Given the description of an element on the screen output the (x, y) to click on. 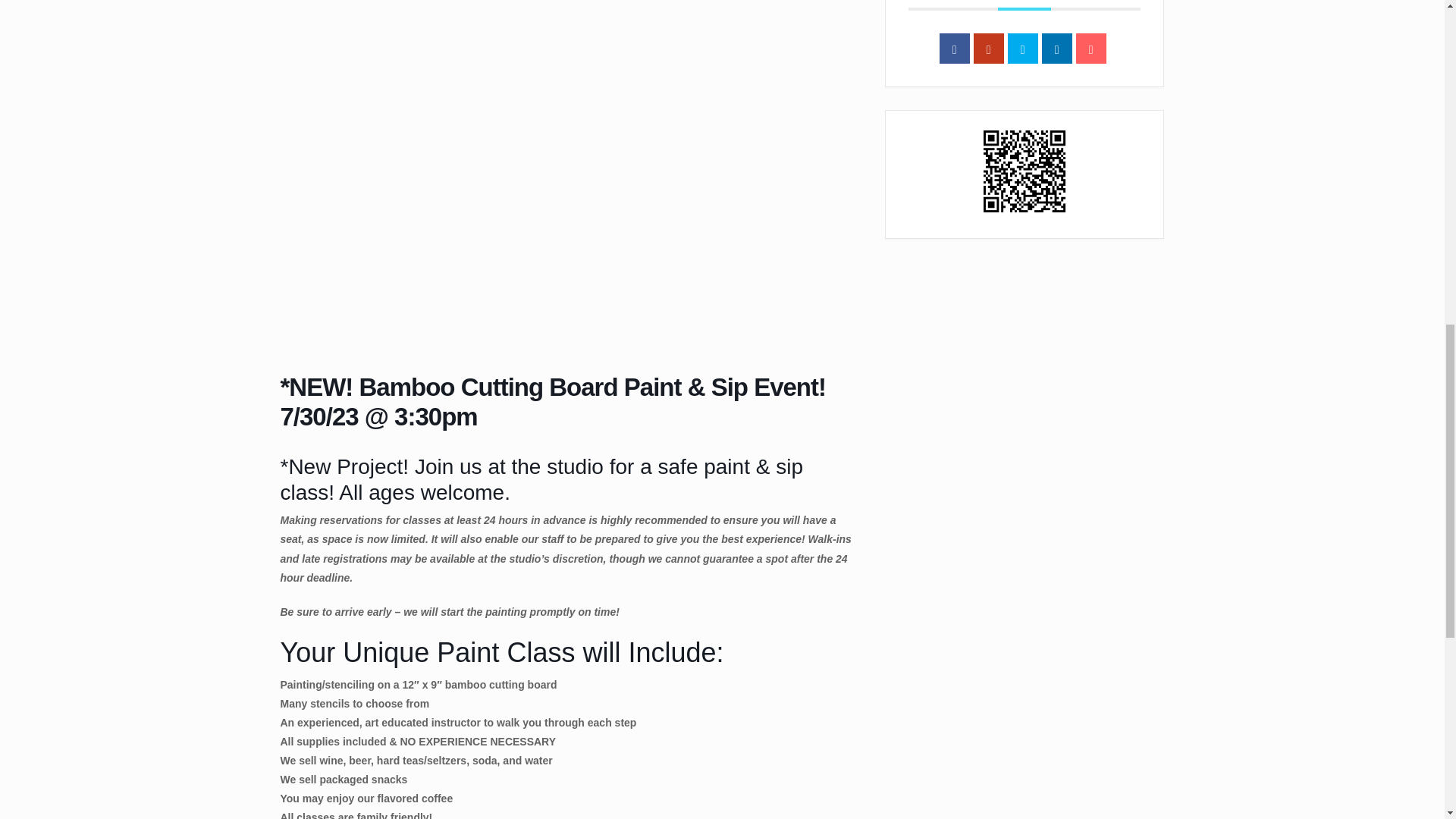
Share on Facebook (954, 48)
Email (1090, 48)
Linkedin (1056, 48)
Google Plus (989, 48)
Tweet (1022, 48)
